Given the description of an element on the screen output the (x, y) to click on. 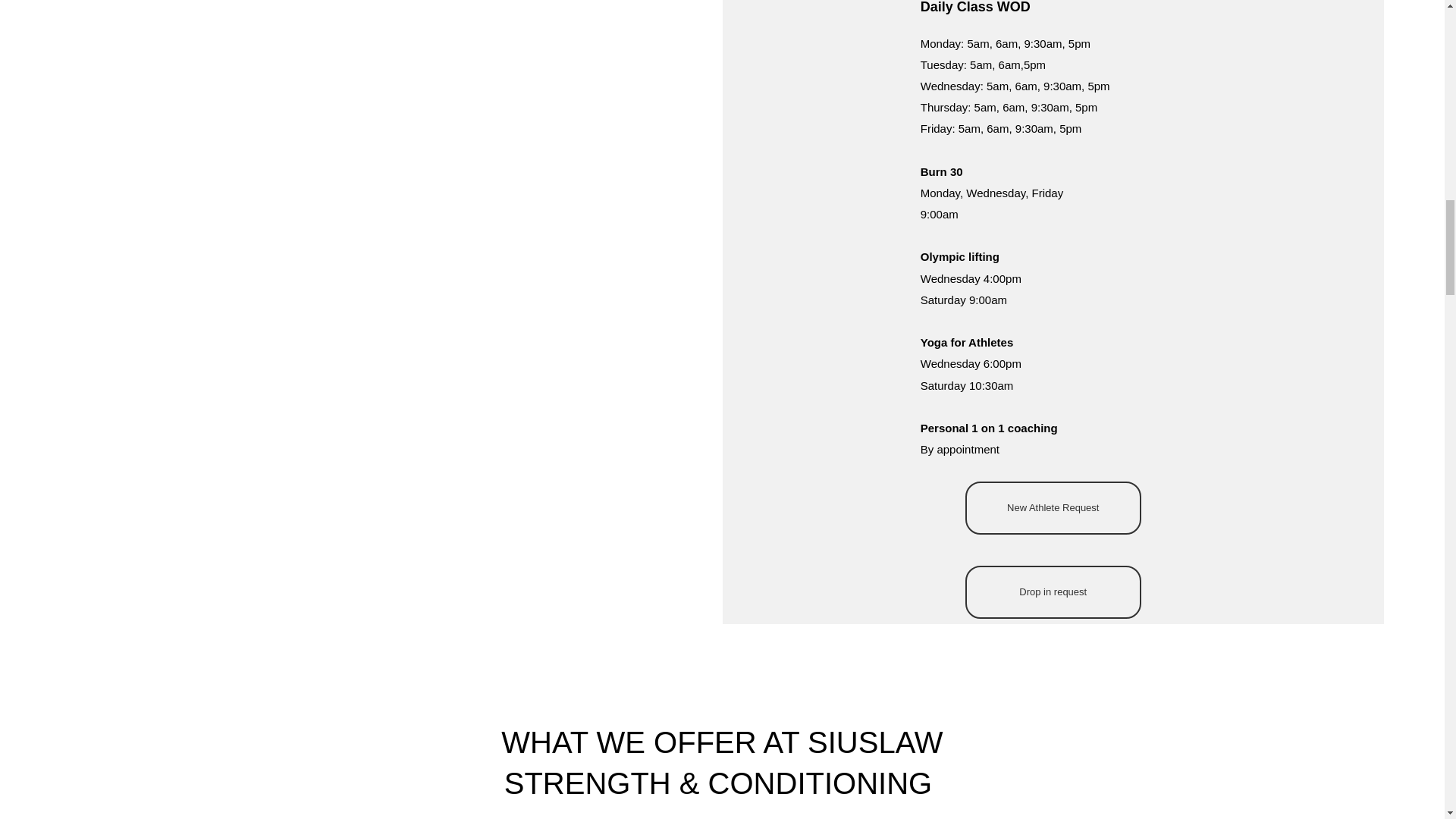
Drop in request (1053, 592)
New Athlete Request (1053, 507)
